Given the description of an element on the screen output the (x, y) to click on. 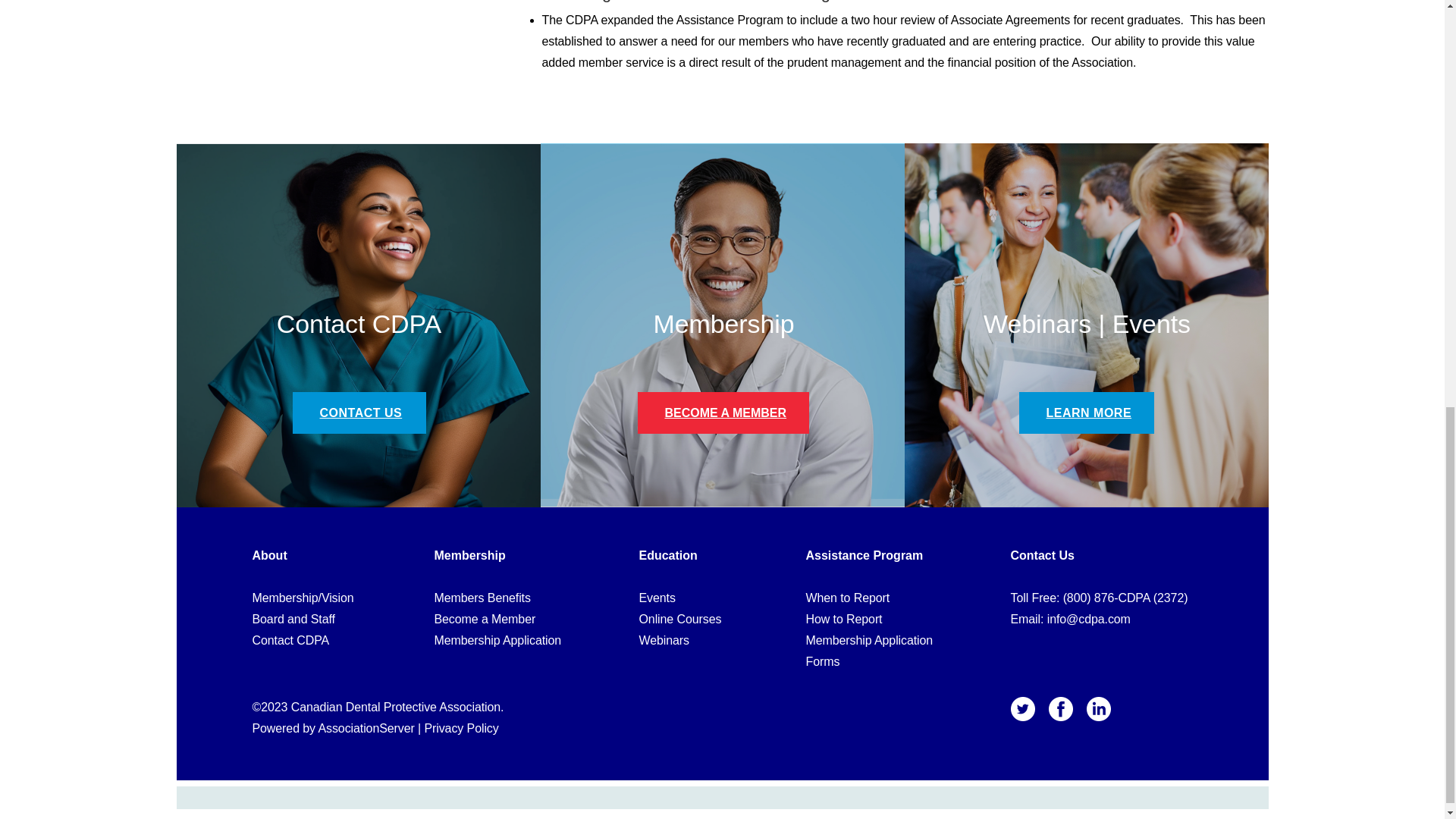
Membership Application (496, 640)
About (268, 554)
Membership (469, 554)
Become a Member (484, 618)
LEARN MORE (1089, 412)
Members Benefits (481, 597)
CONTACT US (361, 412)
Education (668, 554)
Events (657, 597)
Contact CDPA (290, 640)
